Given the description of an element on the screen output the (x, y) to click on. 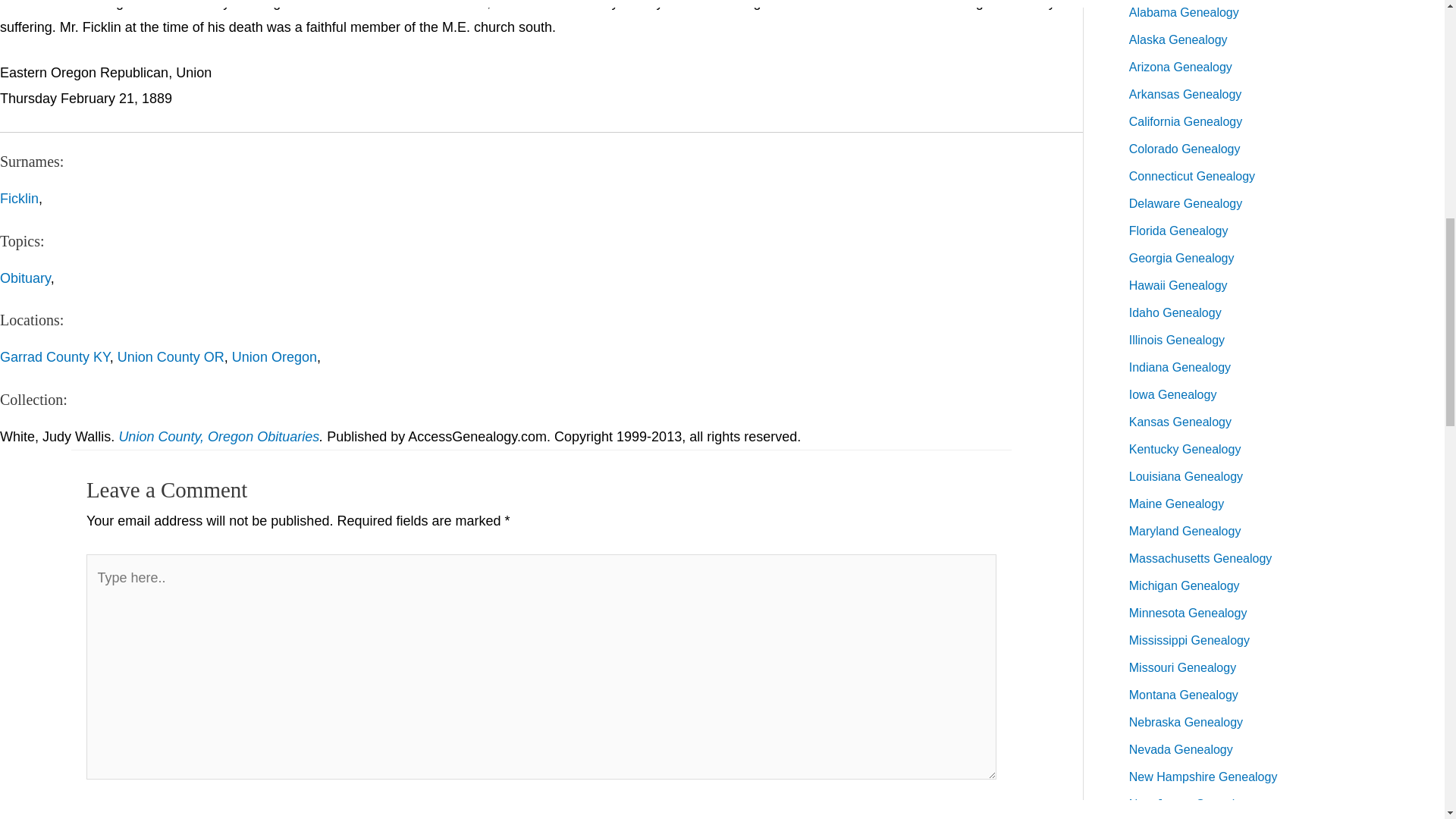
Union Oregon (274, 356)
Alabama Genealogy (1184, 11)
Union County OR (170, 356)
Union County, Oregon Obituaries (217, 436)
Arizona Genealogy (1180, 66)
Alaska Genealogy (1178, 39)
Delaware Genealogy (1185, 203)
Colorado Genealogy (1184, 148)
Connecticut Genealogy (1192, 175)
Arizona Genealogy (1180, 66)
